Given the description of an element on the screen output the (x, y) to click on. 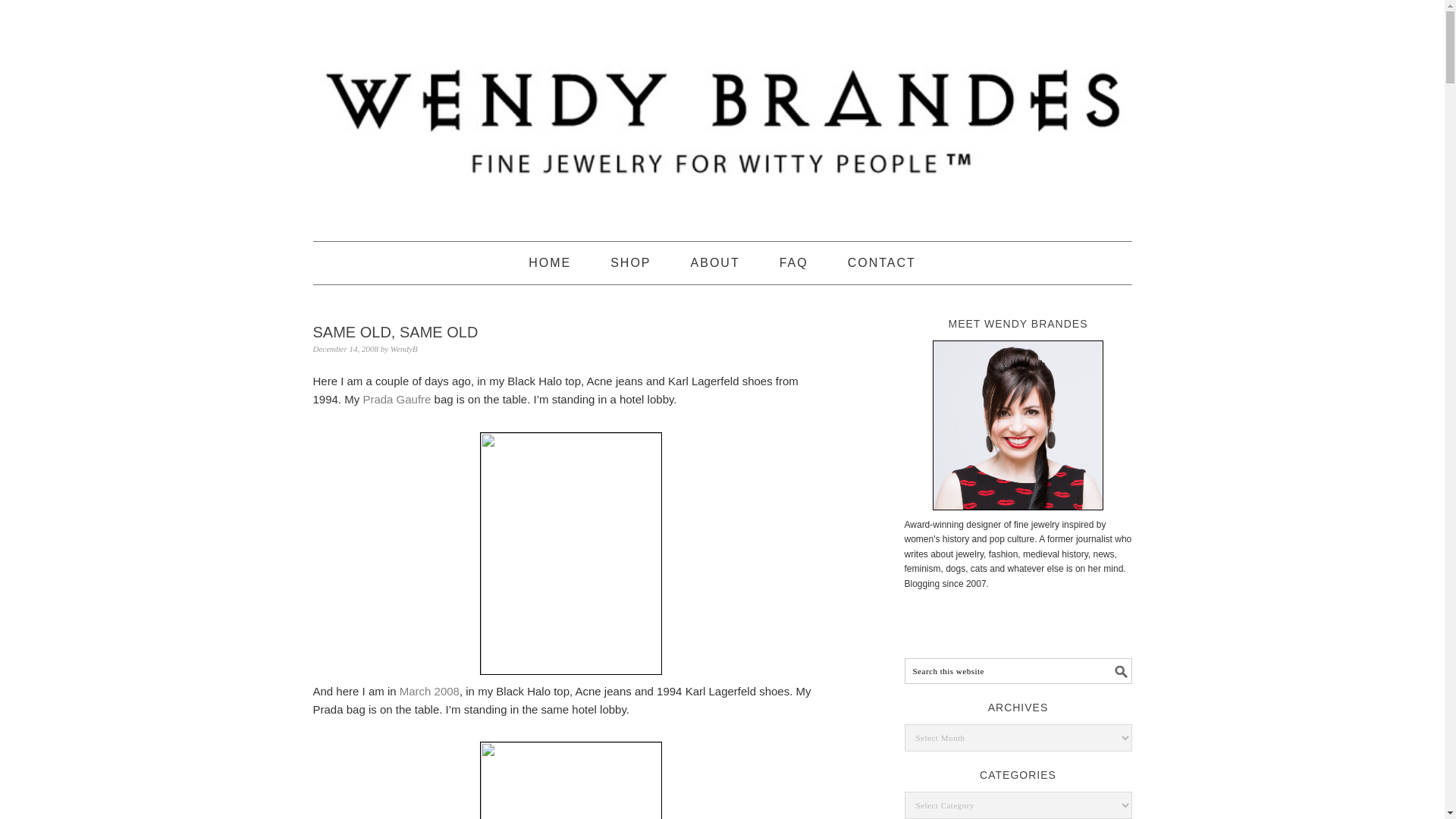
March 2008 (429, 690)
SHOP (630, 262)
CONTACT (881, 262)
HOME (549, 262)
WendyB (403, 347)
FAQ (793, 262)
ABOUT (714, 262)
Prada Gaufre (396, 399)
